Given the description of an element on the screen output the (x, y) to click on. 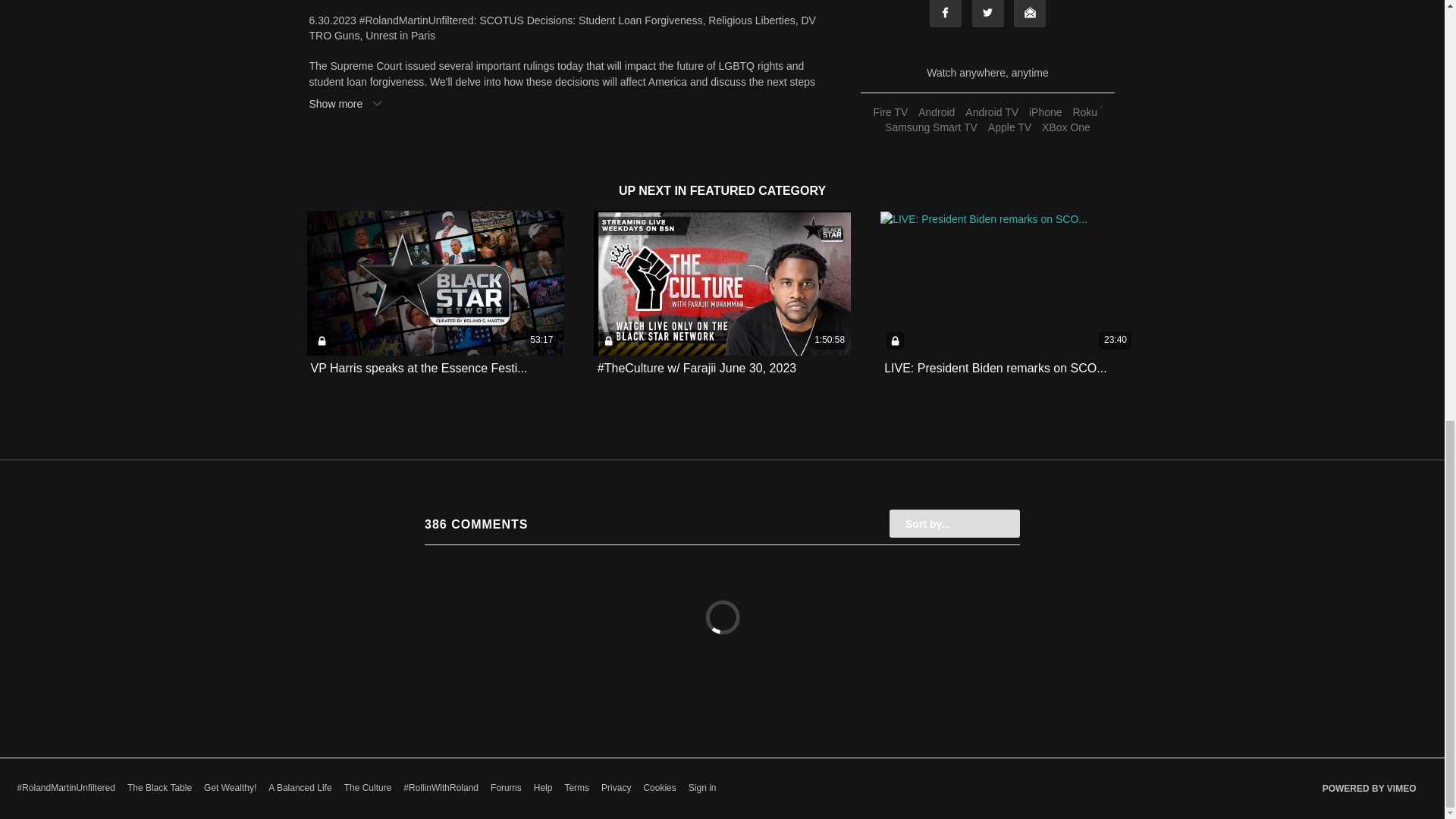
Samsung Smart TV (930, 127)
FEATURED CATEGORY (757, 190)
iPhone (1045, 111)
Email (1029, 13)
LIVE:  President Biden remarks on SCO... (994, 367)
Apple TV (1009, 127)
Twitter (988, 13)
XBox One (1066, 127)
Fire TV (890, 111)
Facebook (945, 13)
Android (936, 111)
53:17 (434, 282)
VP Harris speaks at the Essence Festi... (419, 367)
Android TV (991, 111)
